Given the description of an element on the screen output the (x, y) to click on. 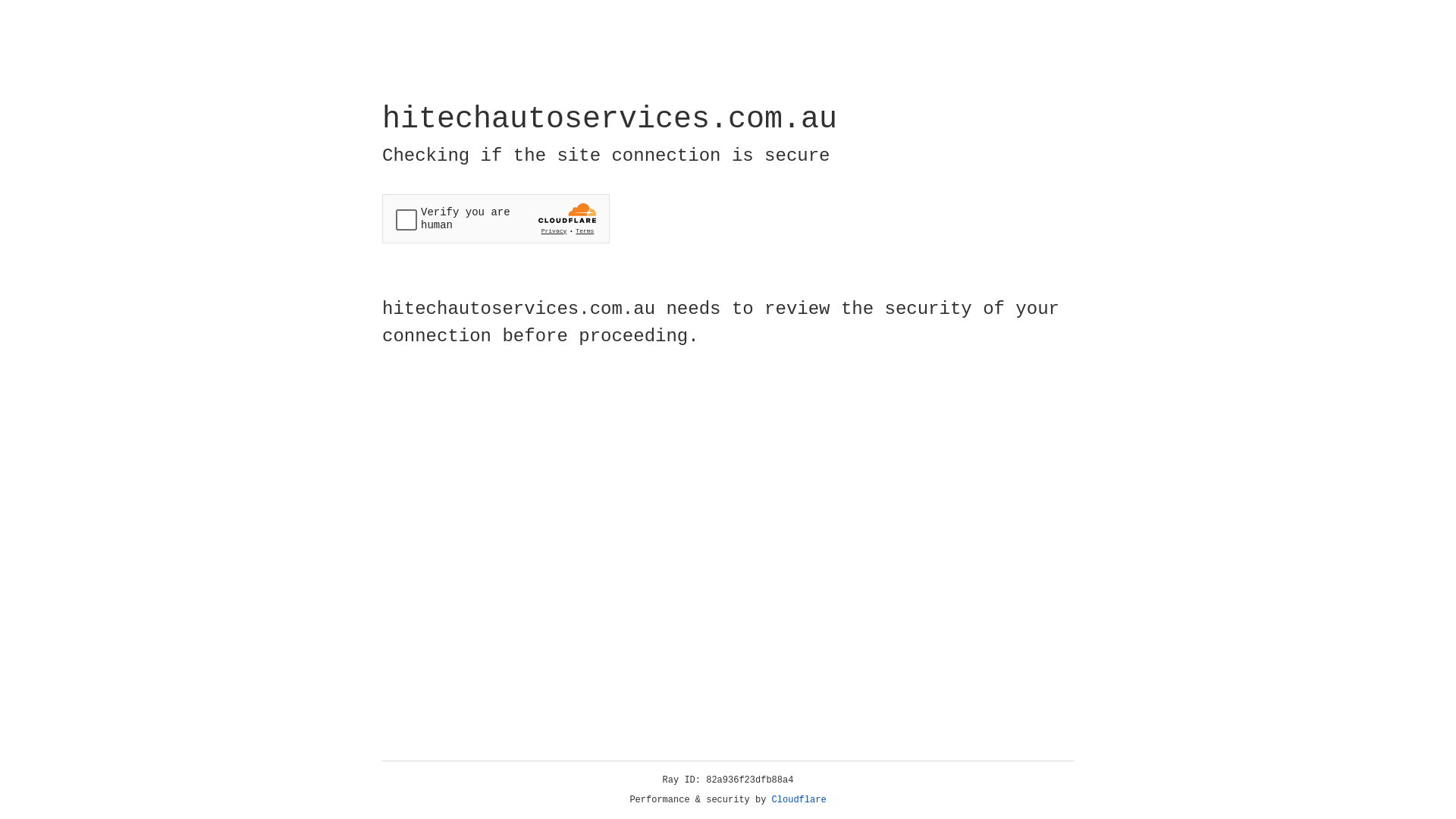
Cloudflare Element type: text (798, 799)
Widget containing a Cloudflare security challenge Element type: hover (495, 218)
